Given the description of an element on the screen output the (x, y) to click on. 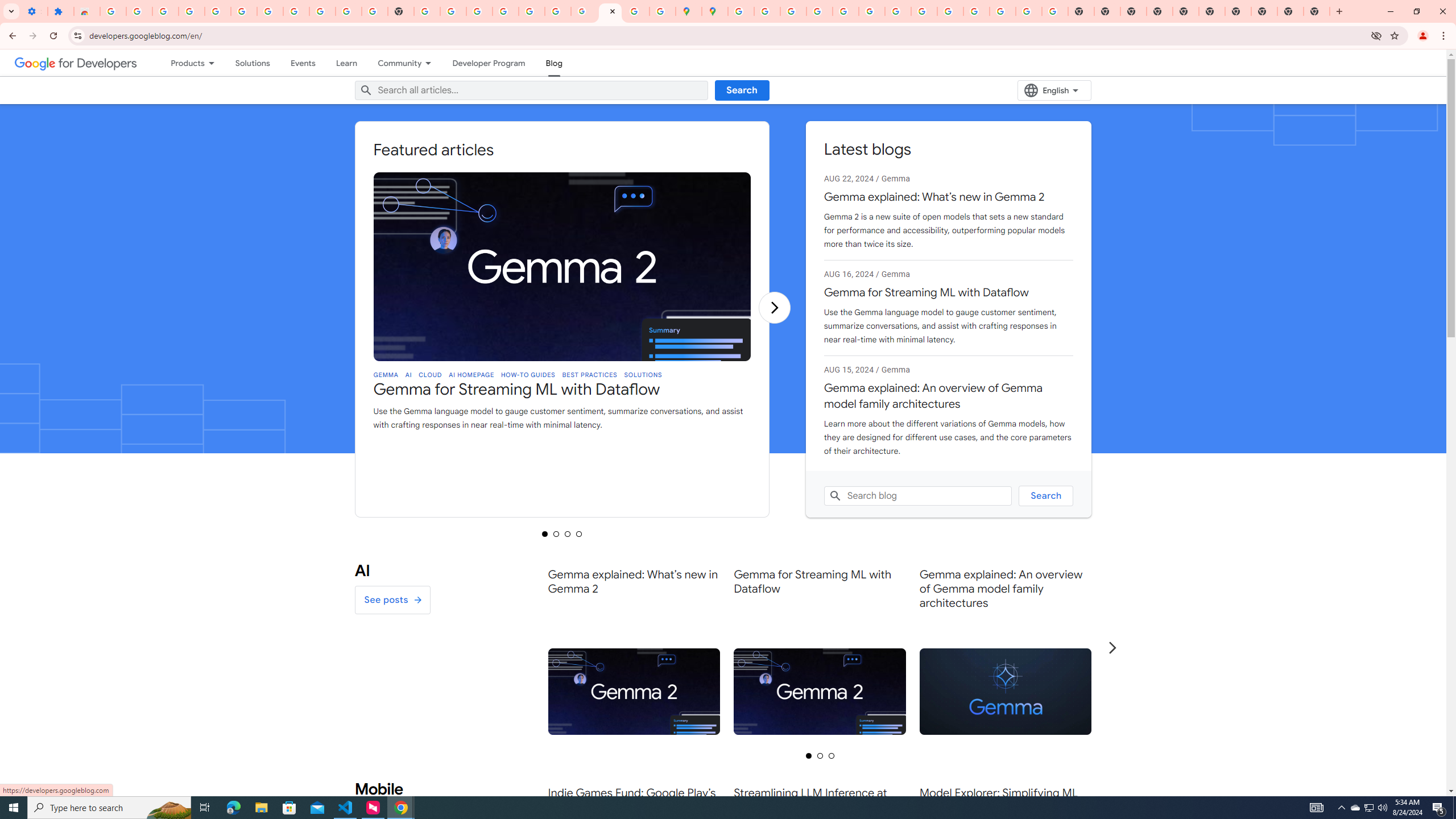
Reviews: Helix Fruit Jump Arcade Game (86, 11)
New Tab (1316, 11)
Selected tab 1 of 4 (544, 533)
Search blog (917, 495)
Delete photos & videos - Computer - Google Photos Help (191, 11)
Privacy Help Center - Policies Help (792, 11)
Gemma for Streaming ML with Dataflow (561, 266)
English (1054, 90)
